Given the description of an element on the screen output the (x, y) to click on. 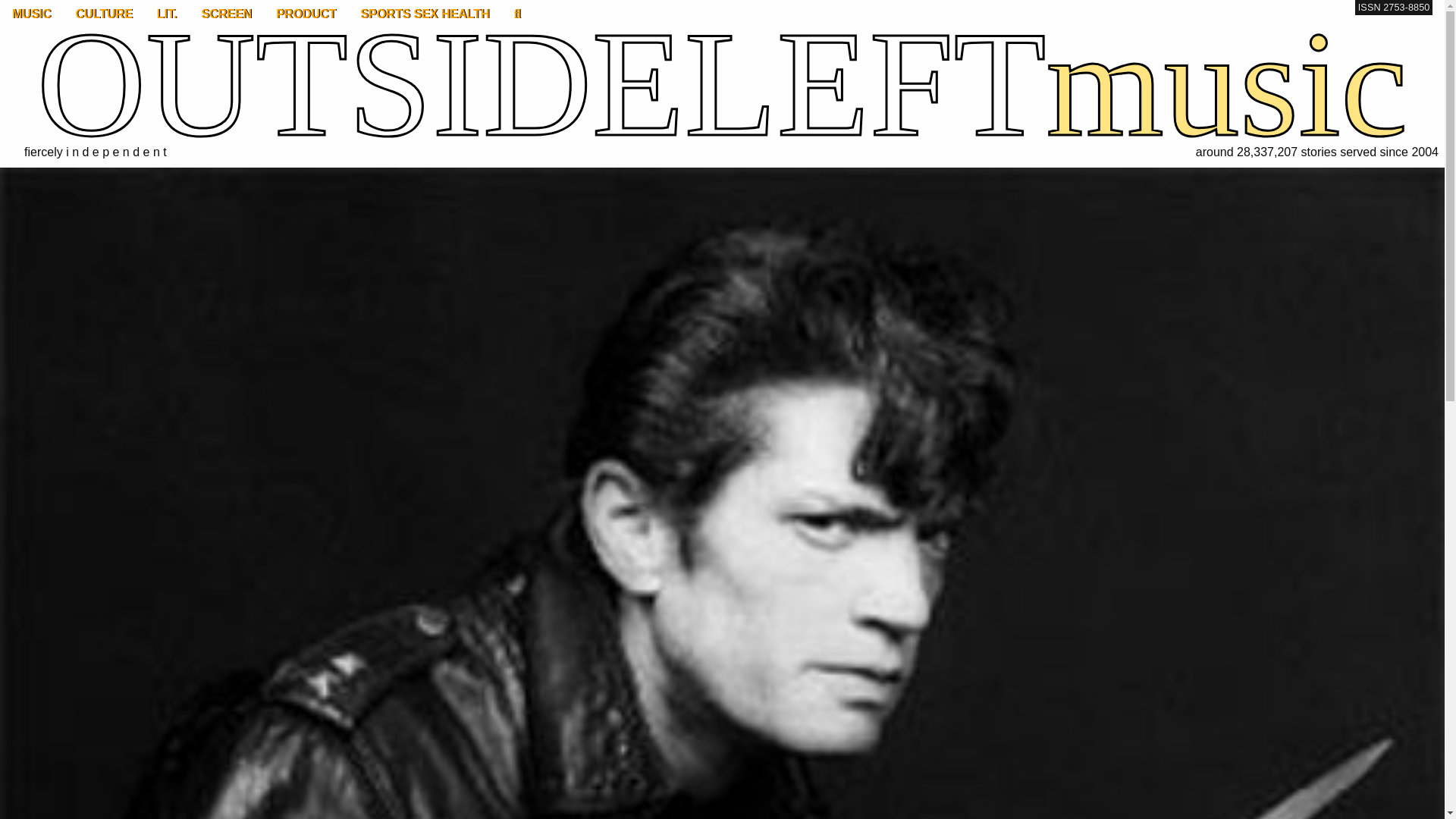
MUSIC (32, 14)
SPORTS SEX HEALTH (423, 14)
CULTURE (104, 14)
PRODUCT (305, 14)
LIT. (166, 14)
SCREEN (226, 14)
